Given the description of an element on the screen output the (x, y) to click on. 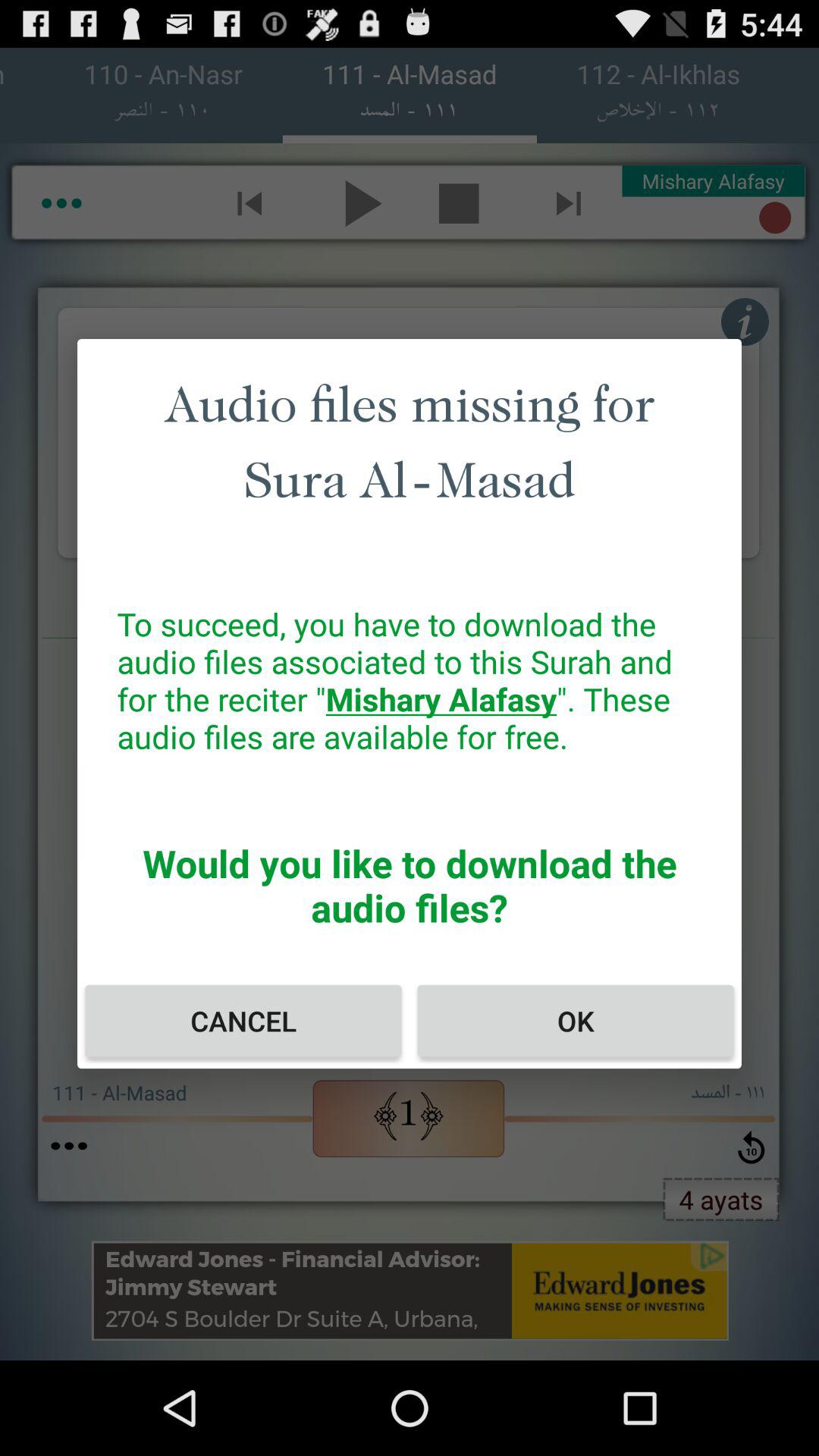
tap ok icon (575, 1020)
